Given the description of an element on the screen output the (x, y) to click on. 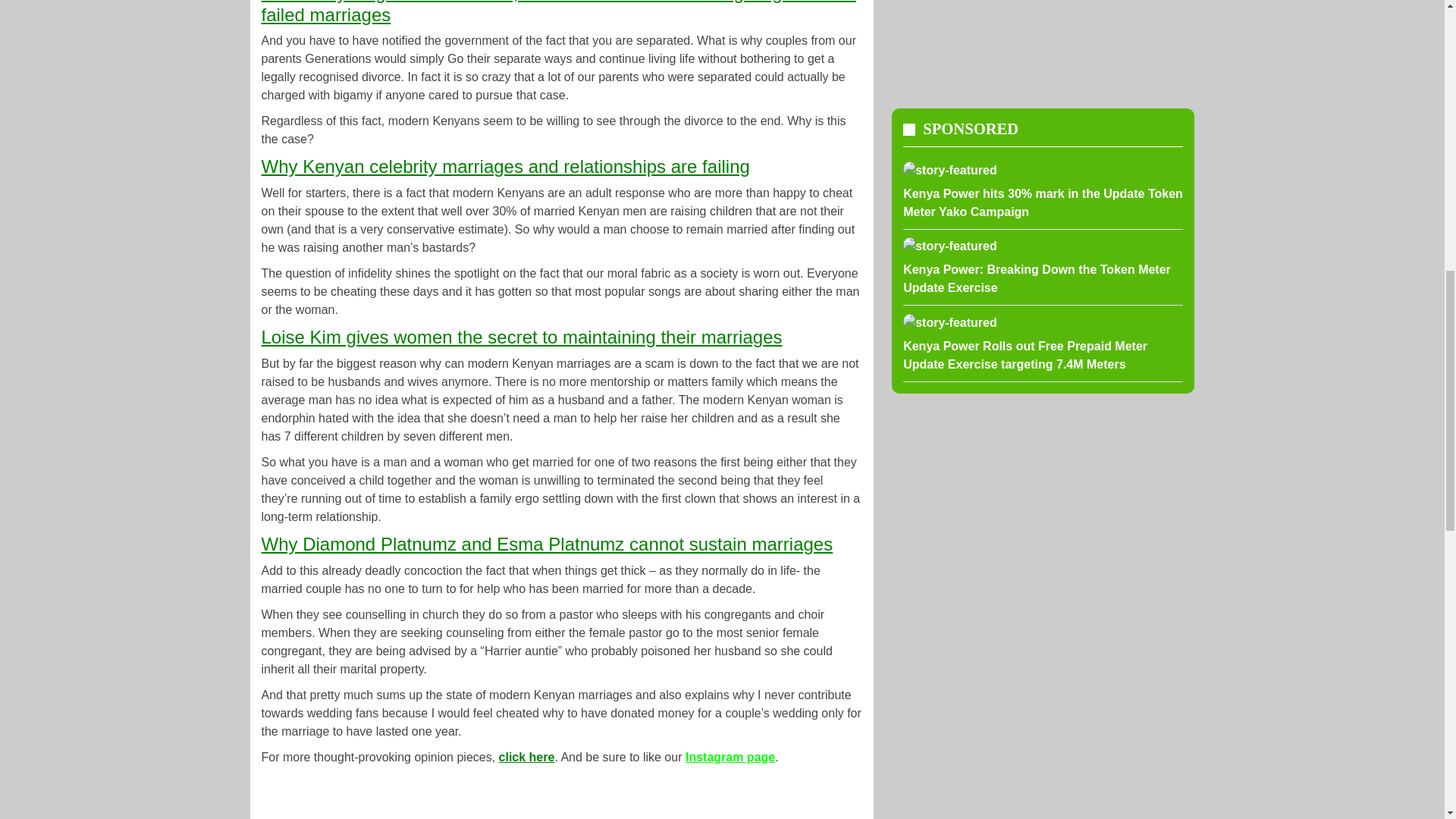
click here (526, 757)
Instagram page (729, 757)
Kenya Power: Breaking Down the Token Meter Update Exercise (1042, 267)
Why Kenyan celebrity marriages and relationships are failing (504, 166)
